Given the description of an element on the screen output the (x, y) to click on. 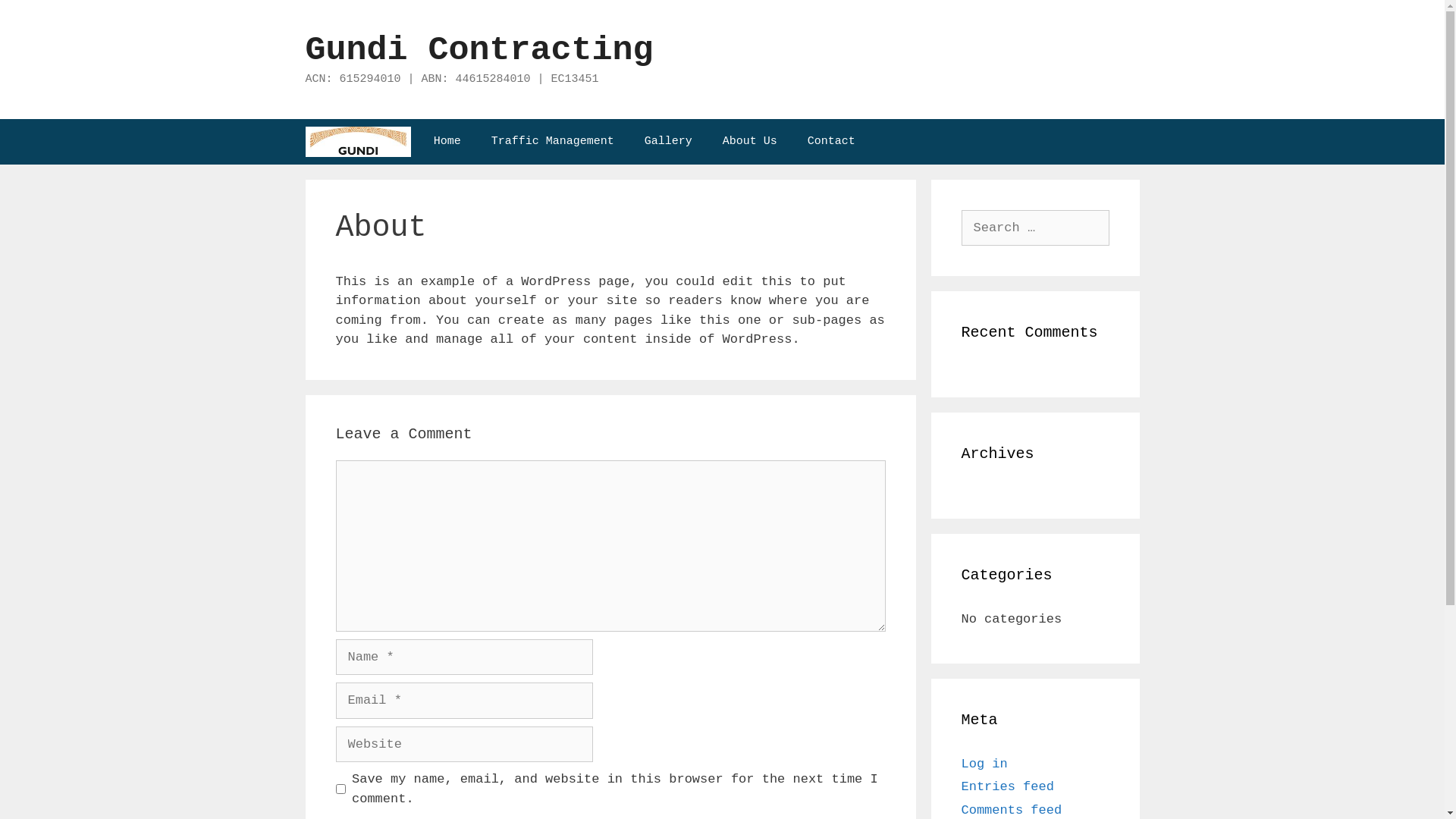
Log in Element type: text (984, 763)
Search Element type: text (39, 18)
Comments feed Element type: text (1011, 809)
Gallery Element type: text (668, 140)
Home Element type: text (447, 140)
About Us Element type: text (749, 140)
Gundi Contracting Element type: text (478, 50)
Gundi Contracting Element type: hover (357, 140)
Search for: Element type: hover (1035, 227)
Traffic Management Element type: text (552, 140)
Contact Element type: text (831, 140)
Entries feed Element type: text (1007, 786)
